Given the description of an element on the screen output the (x, y) to click on. 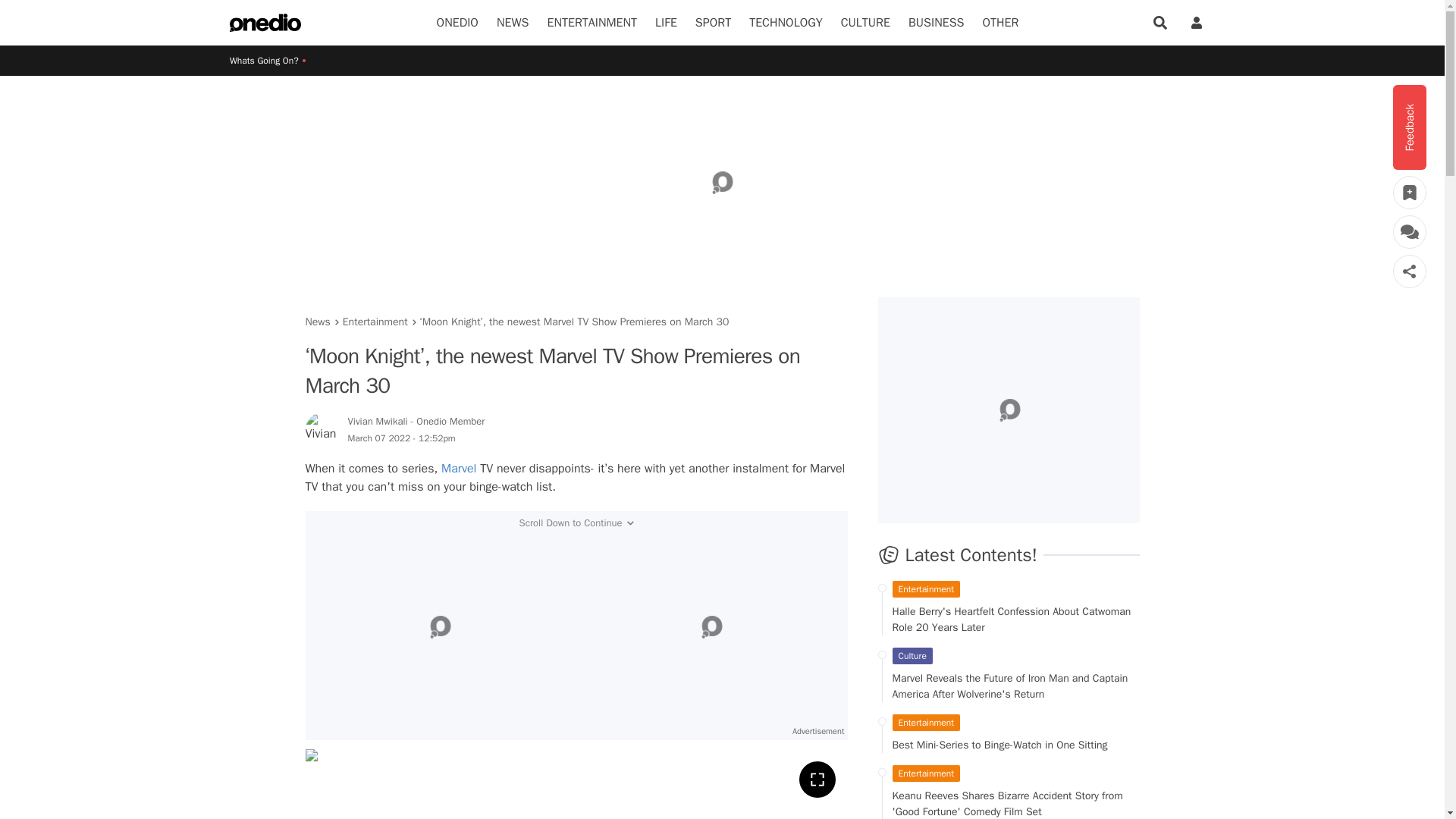
ENTERTAINMENT (591, 22)
Onedio (457, 22)
News (512, 22)
ONEDIO (457, 22)
Ana Sayfa (265, 22)
NEWS (512, 22)
SPORT (712, 22)
Entertainment (591, 22)
